Given the description of an element on the screen output the (x, y) to click on. 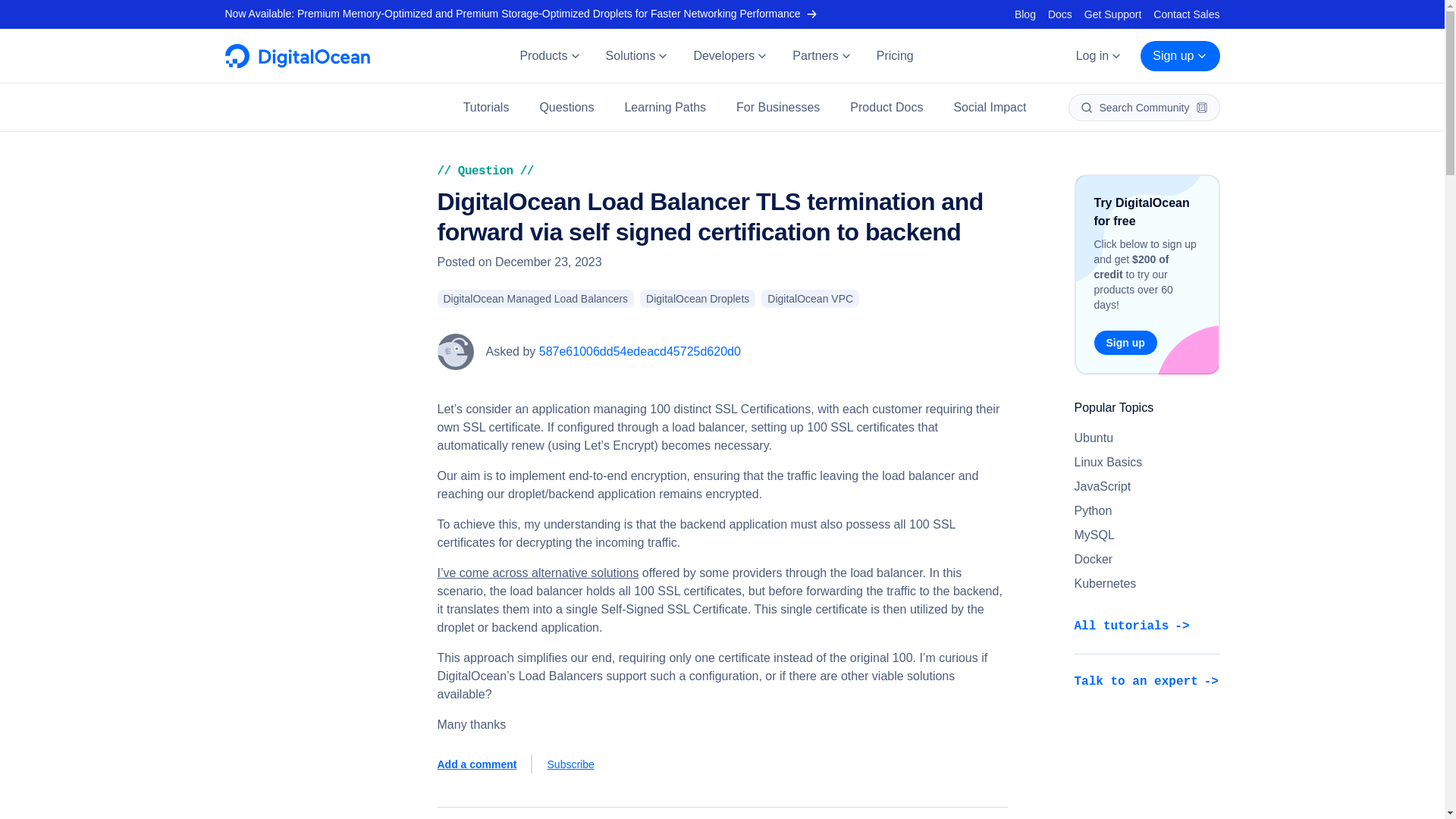
Contact Sales (1186, 14)
Docs (1059, 14)
Get Support (1112, 14)
DigitalOcean (296, 63)
DigitalOcean Droplets (697, 298)
Products (549, 55)
DigitalOcean Managed Load Balancers (534, 298)
Blog (1024, 14)
DigitalOcean VPC (810, 298)
